Given the description of an element on the screen output the (x, y) to click on. 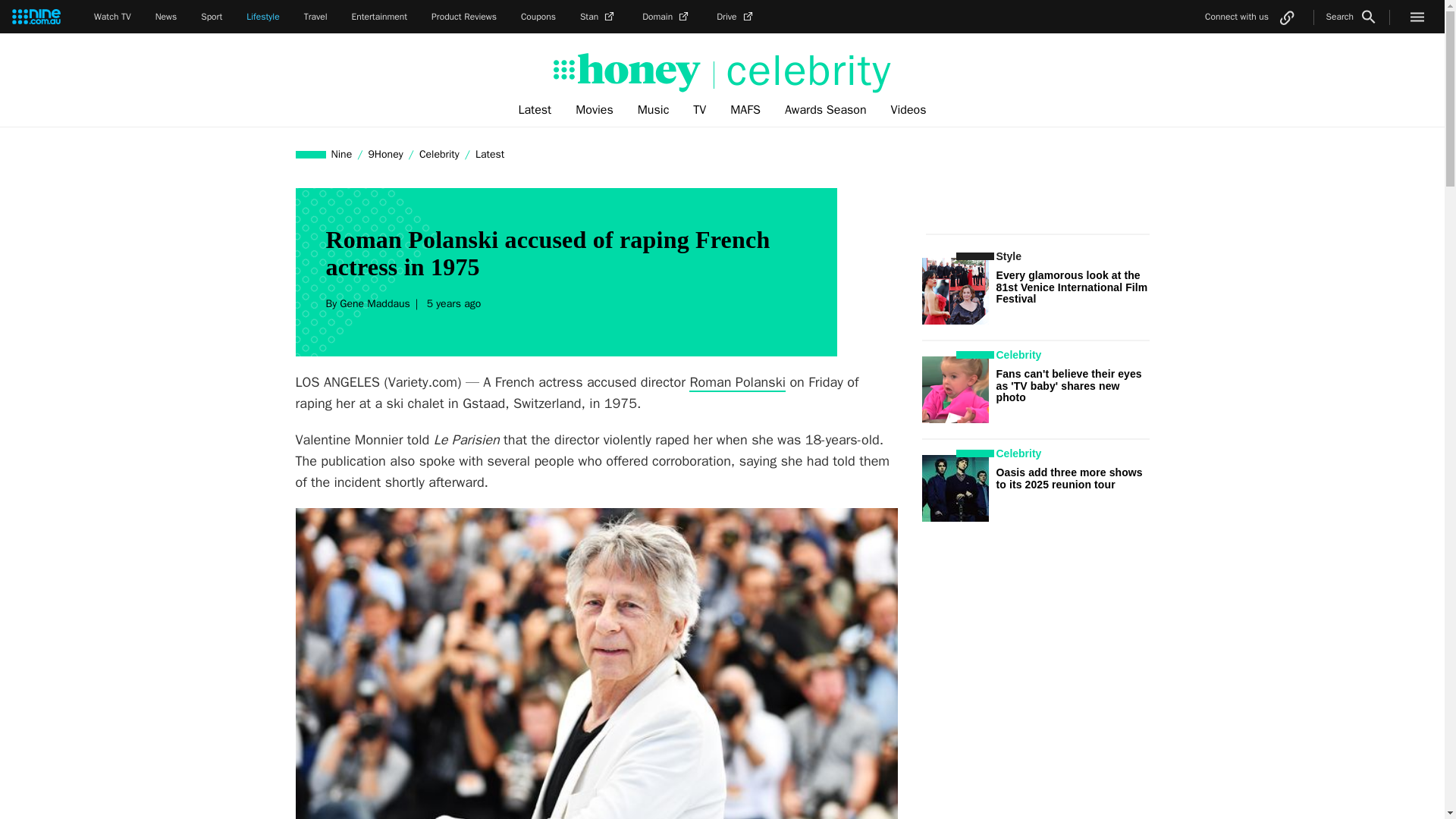
Roman Polanski (737, 382)
Entertainment (379, 16)
Movies (594, 109)
2019-11-08 23:56 (451, 303)
9Honey (384, 154)
Nine (342, 154)
TV (699, 109)
Music (653, 109)
Lifestyle (262, 16)
Awards Season (826, 109)
